Given the description of an element on the screen output the (x, y) to click on. 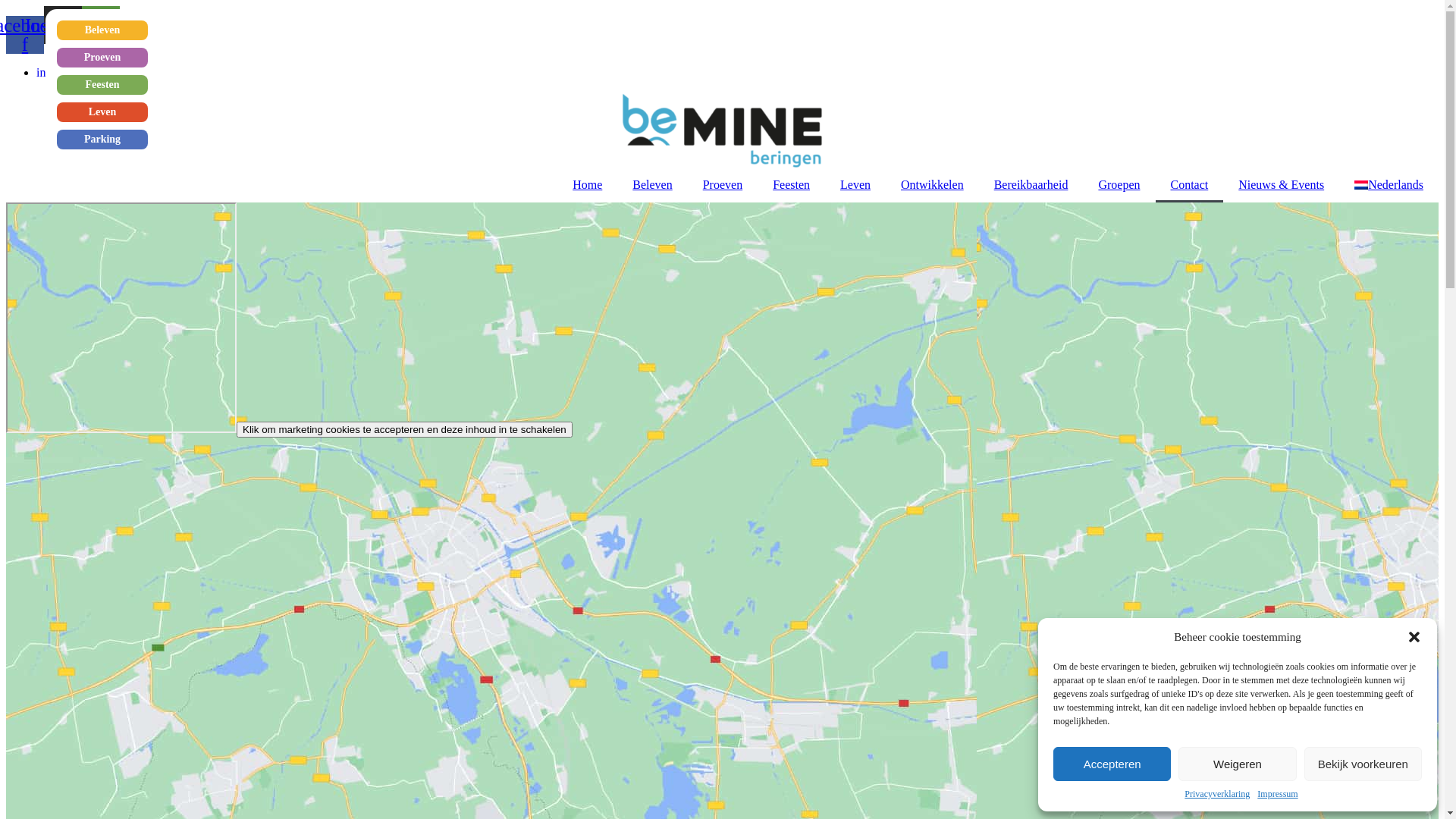
Beleven Element type: text (101, 30)
Proeven Element type: text (722, 183)
Weigeren Element type: text (1236, 763)
Feesten Element type: text (791, 183)
Facebook-f Element type: text (24, 34)
Bereikbaarheid Element type: text (1031, 183)
Home Element type: text (587, 183)
Groepen Element type: text (1118, 183)
Nederlands Element type: text (1388, 183)
info@beMINE.be Element type: text (80, 71)
Impressum Element type: text (1277, 794)
Bekijk voorkeuren Element type: text (1362, 763)
beMine Element type: hover (121, 316)
Tripadvisor Element type: text (100, 24)
Leven Element type: text (101, 112)
Feesten Element type: text (101, 84)
Accepteren Element type: text (1111, 763)
Ga naar de inhoud Element type: text (5, 5)
Contact Element type: text (1189, 183)
Parking Element type: text (101, 139)
Ontwikkelen Element type: text (932, 183)
Nieuws & Events Element type: text (1281, 183)
Leven Element type: text (855, 183)
Beleven Element type: text (652, 183)
Privacyverklaring Element type: text (1216, 794)
Proeven Element type: text (101, 57)
Instagram Element type: text (62, 24)
